Given the description of an element on the screen output the (x, y) to click on. 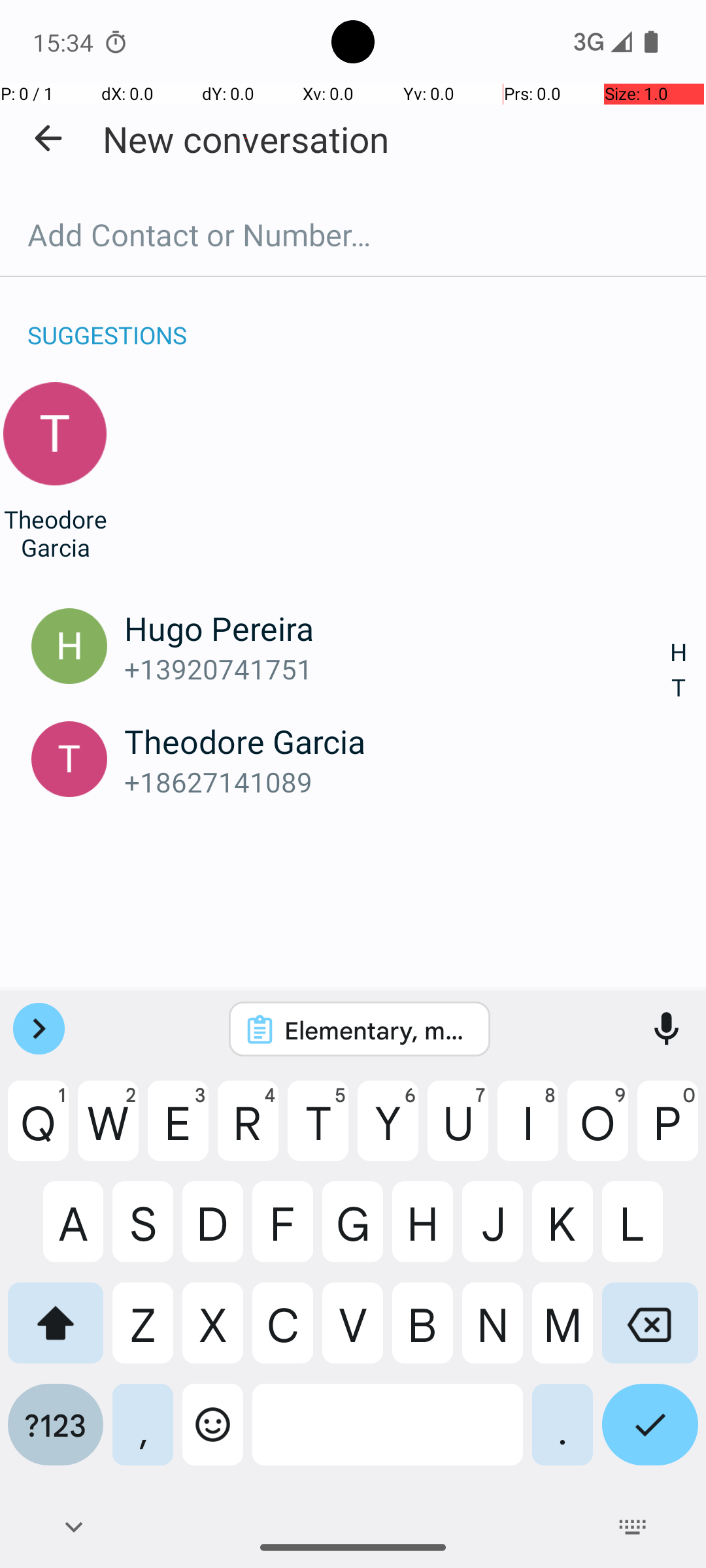
SUGGESTIONS Element type: android.widget.TextView (106, 321)
H
T Element type: android.widget.TextView (678, 670)
Theodore Garcia Element type: android.widget.TextView (54, 532)
+13920741751 Element type: android.widget.TextView (397, 668)
+18627141089 Element type: android.widget.TextView (397, 781)
Elementary, my dear Watson. Element type: android.widget.TextView (376, 1029)
